Given the description of an element on the screen output the (x, y) to click on. 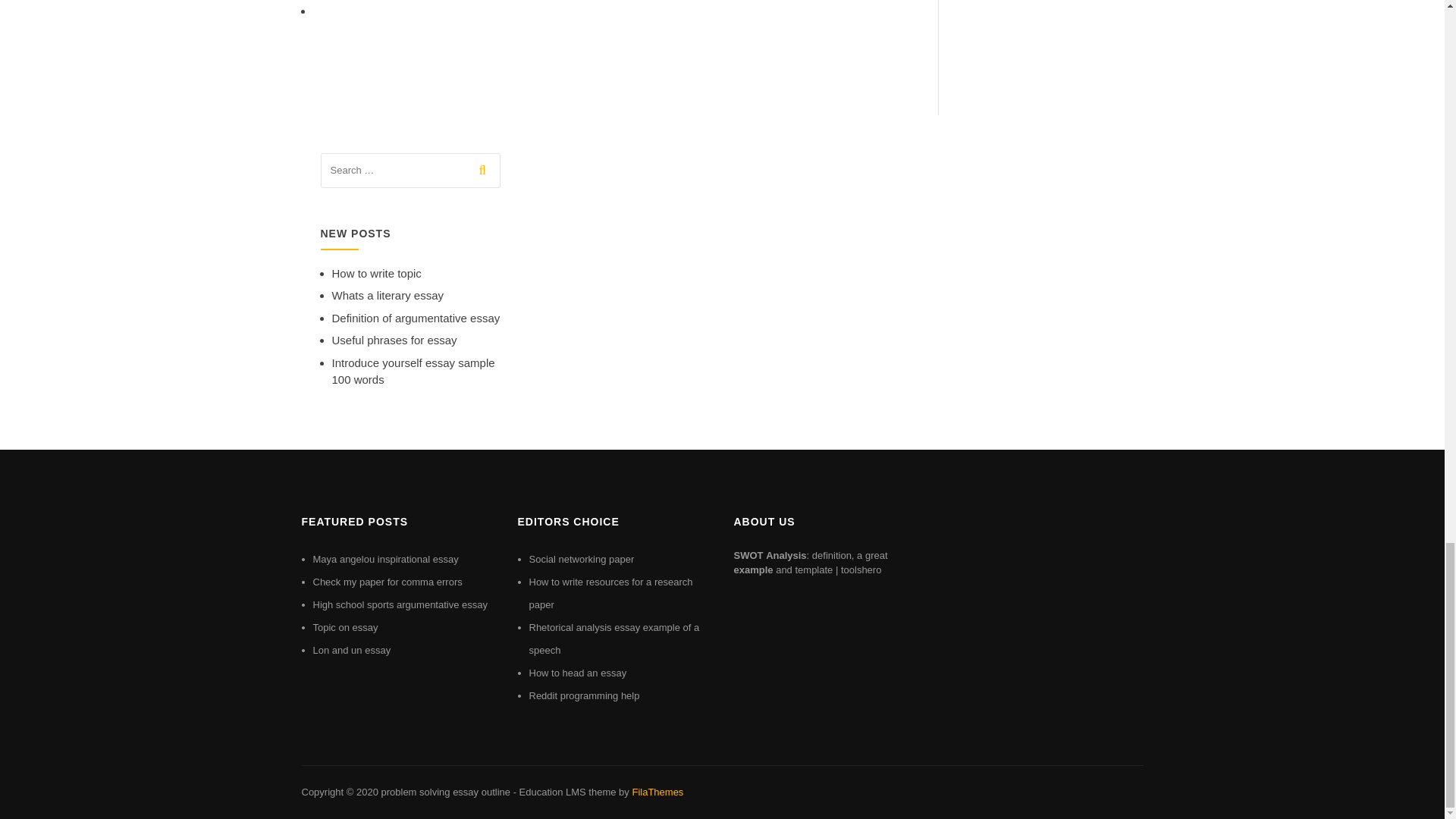
Topic on essay (345, 627)
Definition of argumentative essay (415, 318)
How to head an essay (578, 672)
Maya angelou inspirational essay (385, 559)
problem solving essay outline (445, 791)
Useful phrases for essay (394, 339)
How to write topic (376, 273)
Introduce yourself essay sample 100 words (413, 371)
Whats a literary essay (387, 295)
Rhetorical analysis essay example of a speech (614, 638)
